Given the description of an element on the screen output the (x, y) to click on. 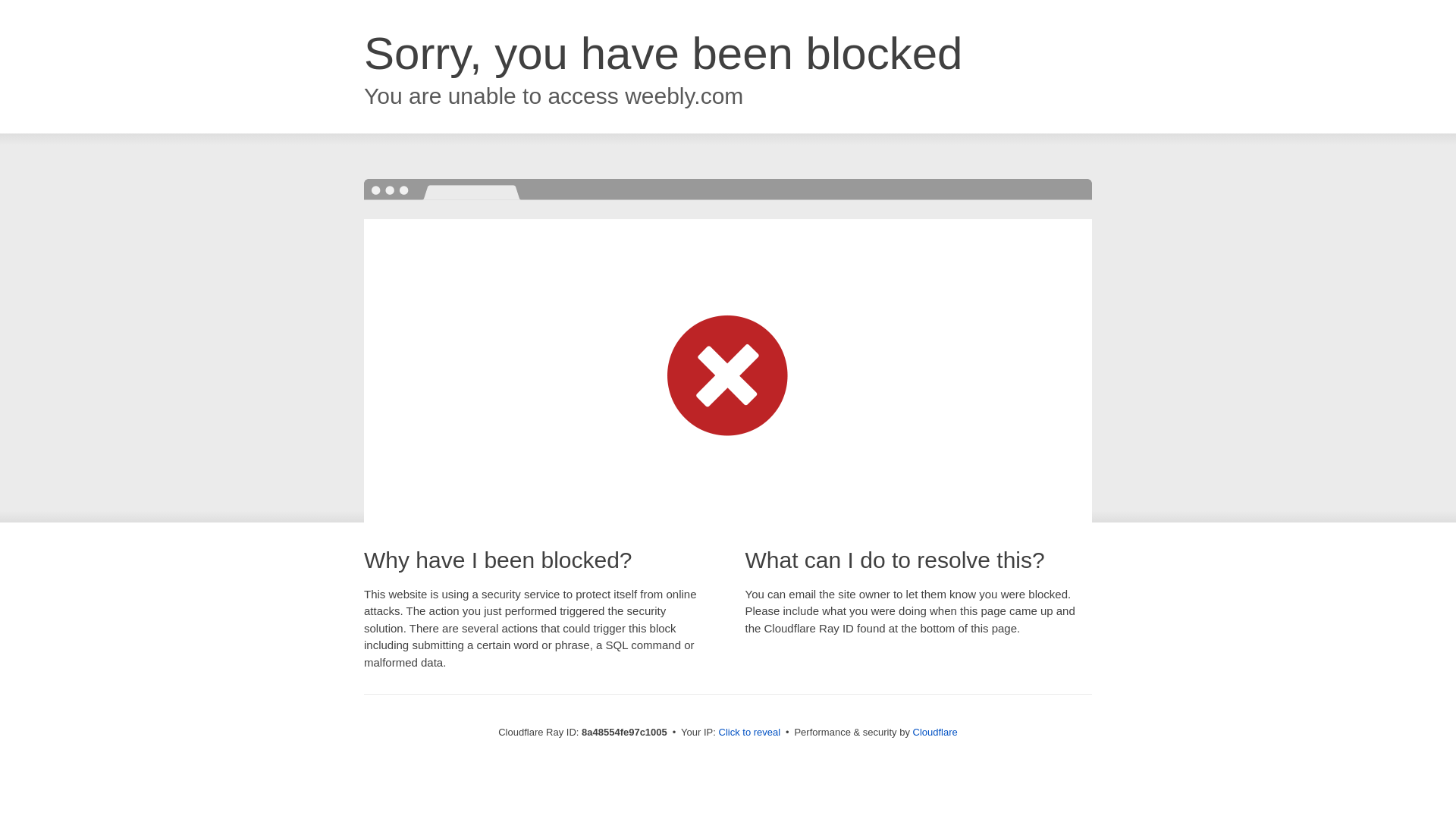
Cloudflare (935, 731)
Click to reveal (749, 732)
